Given the description of an element on the screen output the (x, y) to click on. 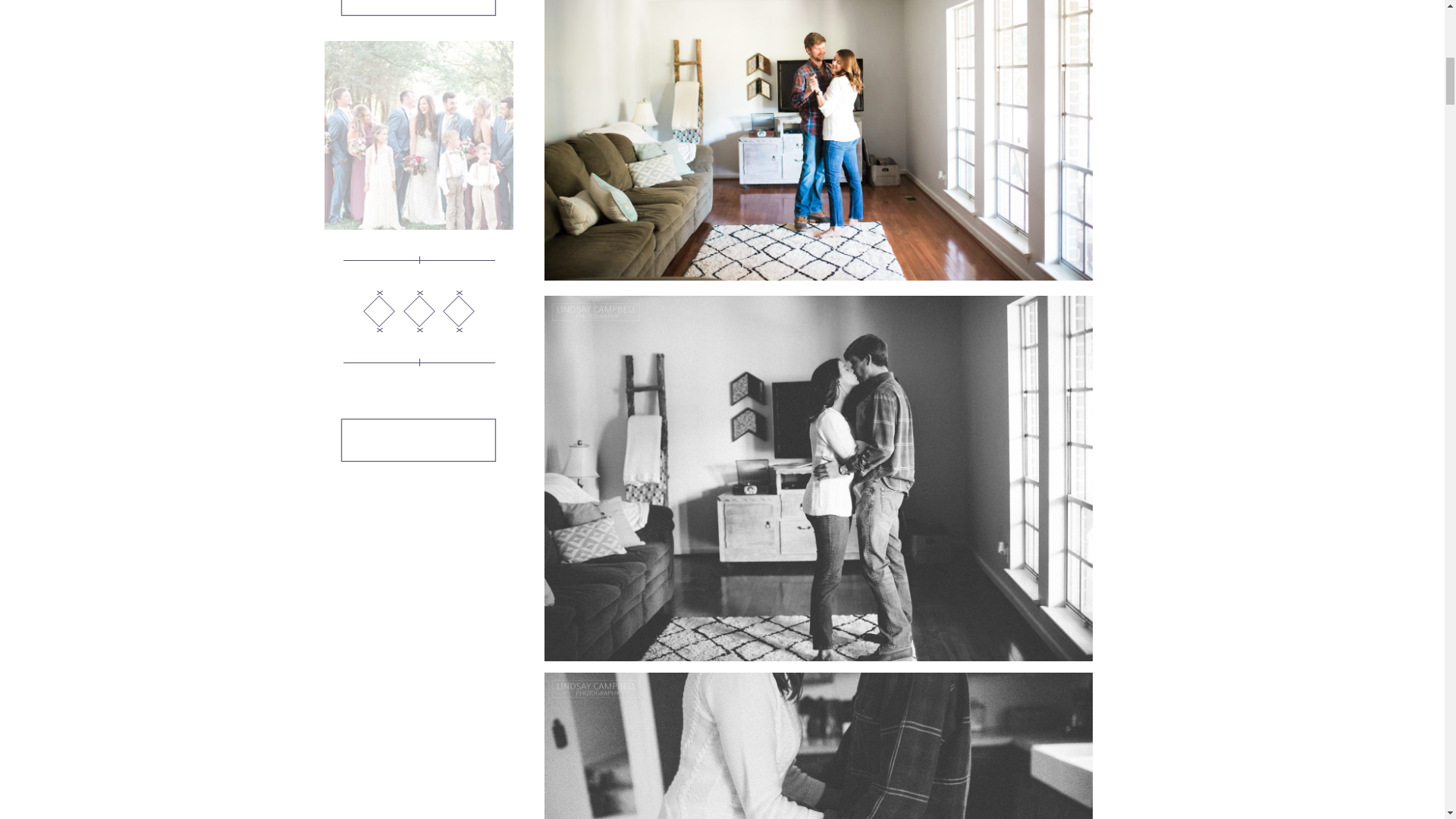
p (458, 311)
f (378, 311)
i (418, 20)
